Given the description of an element on the screen output the (x, y) to click on. 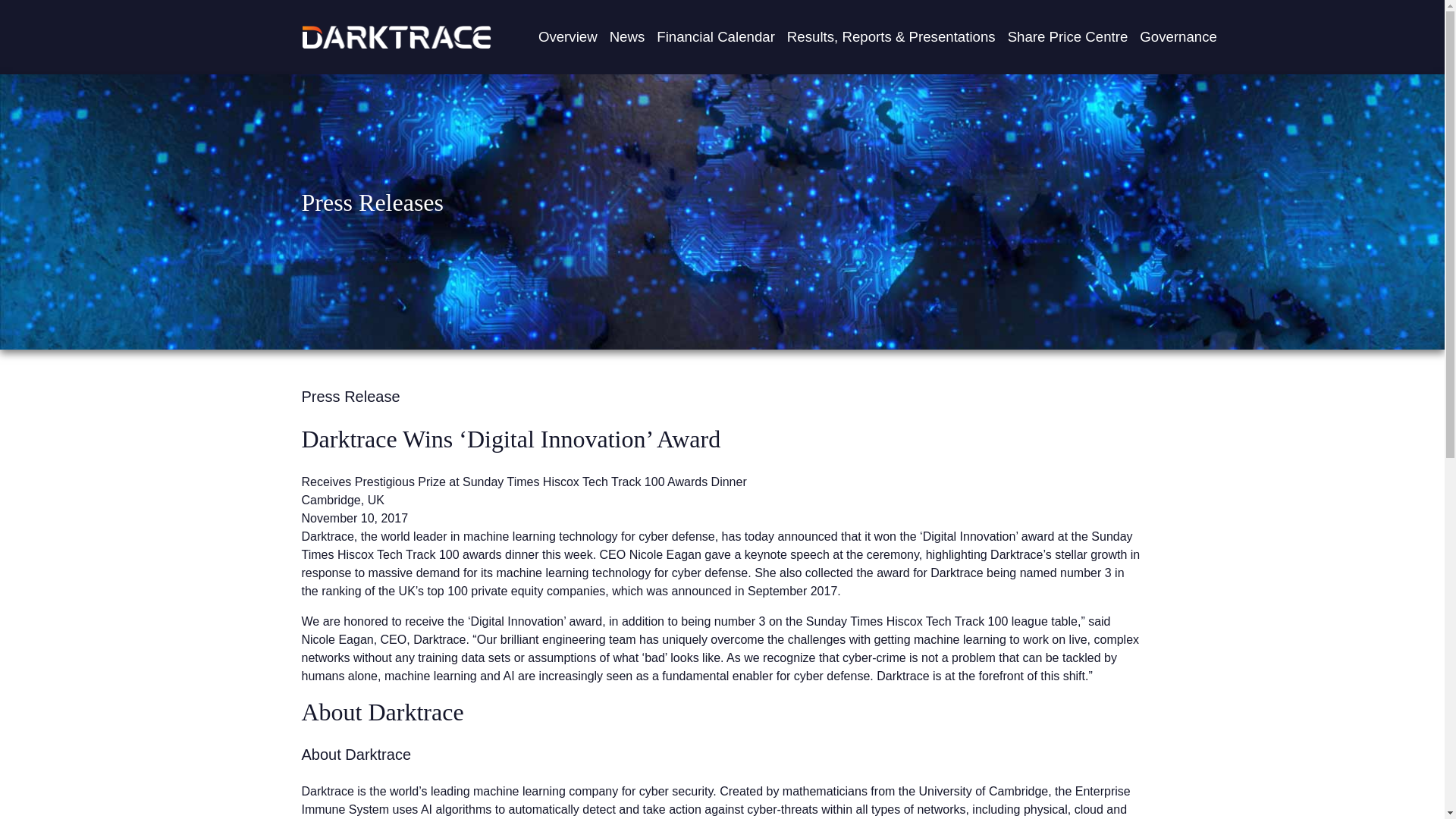
Share Price Centre (1067, 37)
Overview (568, 37)
Financial Calendar (715, 37)
Governance (1178, 37)
News (627, 37)
Darktrace (396, 36)
